Given the description of an element on the screen output the (x, y) to click on. 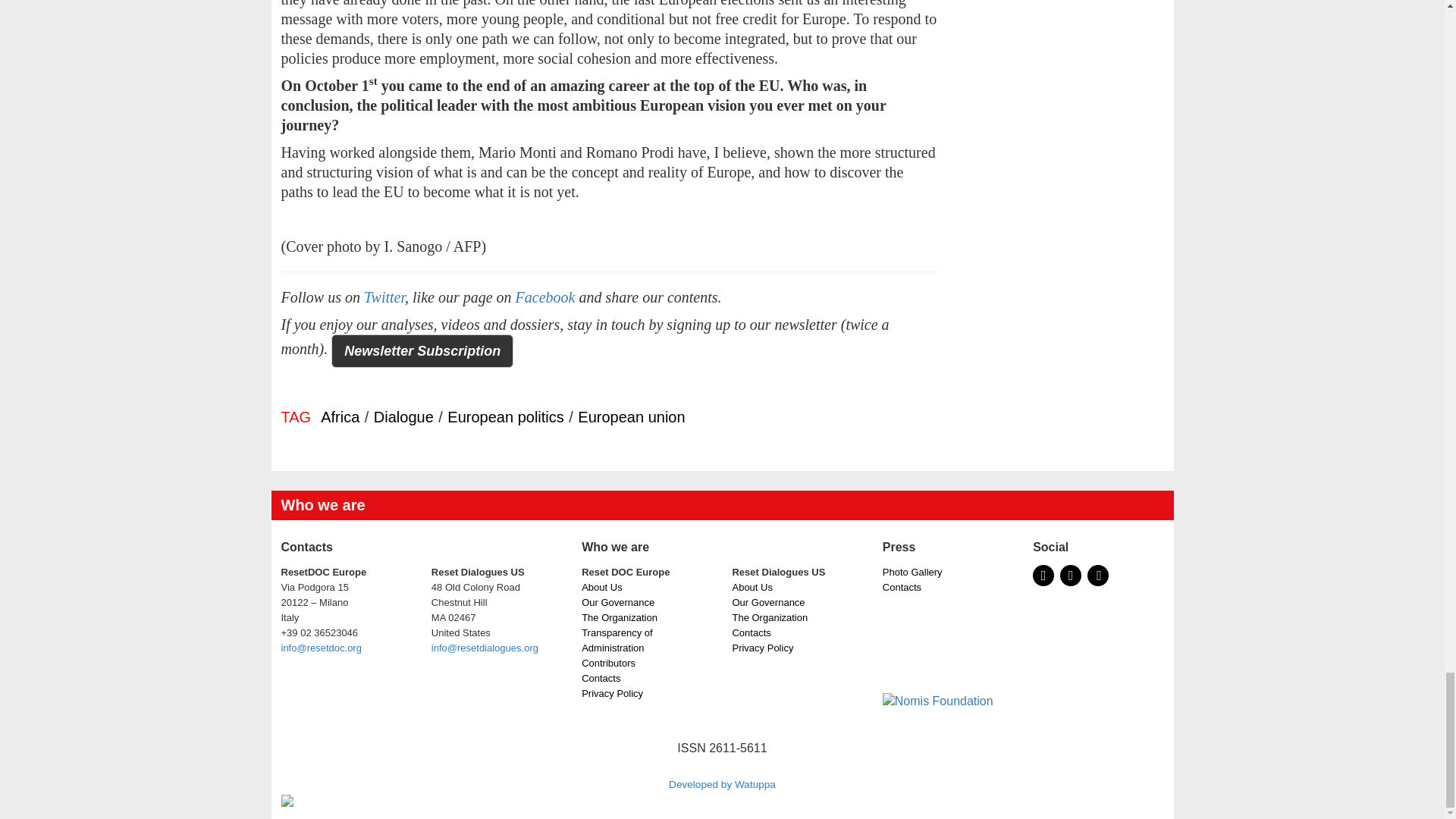
Africa (339, 416)
Twitter (384, 297)
European politics (504, 416)
European union (631, 416)
Facebook (545, 297)
Newsletter Subscription (422, 350)
Dialogue (403, 416)
